Given the description of an element on the screen output the (x, y) to click on. 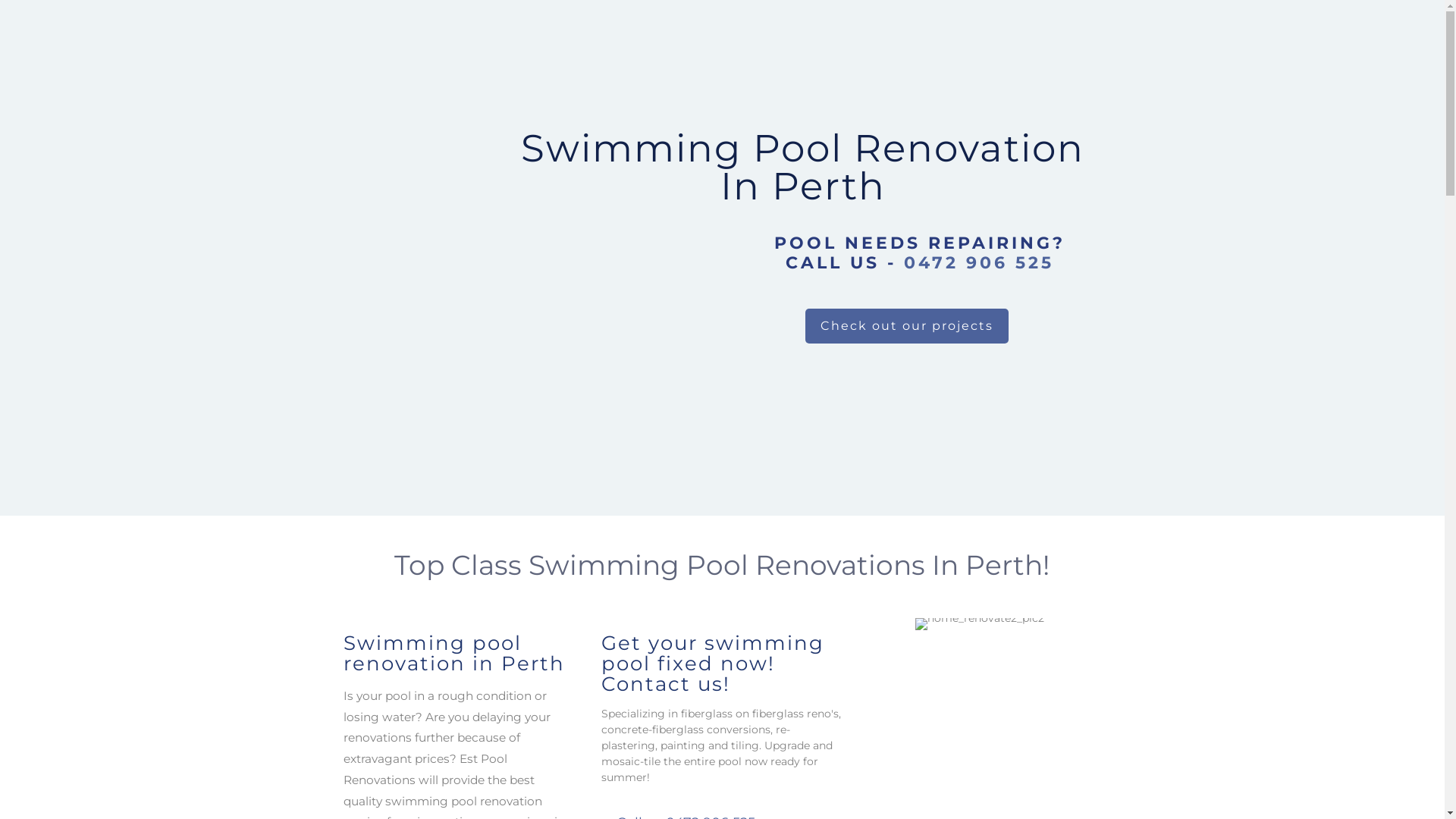
0472 906 525 Element type: text (978, 262)
